Given the description of an element on the screen output the (x, y) to click on. 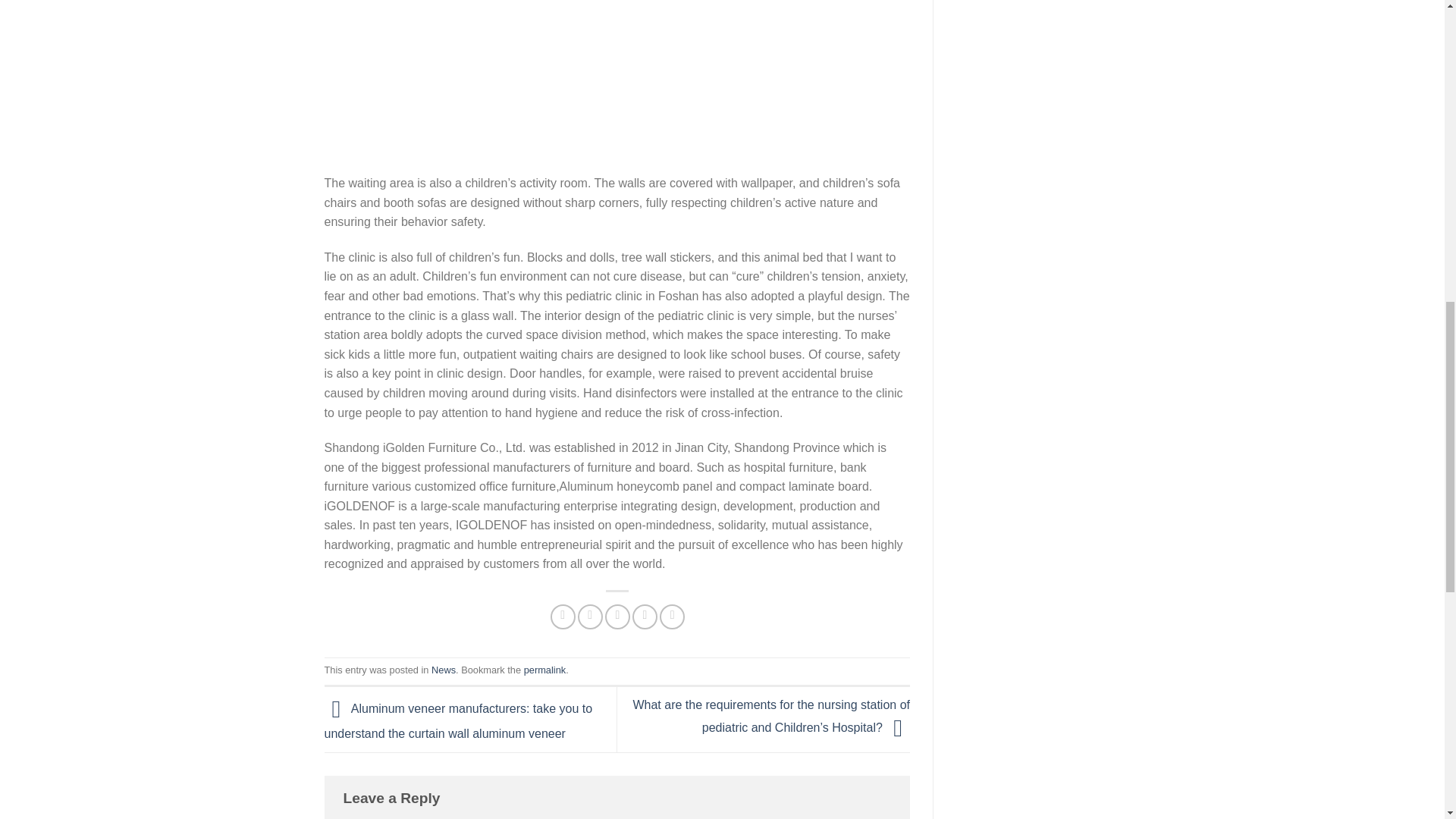
Email to a Friend (617, 616)
Share on Twitter (590, 616)
Pin on Pinterest (644, 616)
News (442, 669)
permalink (545, 669)
Share on LinkedIn (671, 616)
Share on Facebook (562, 616)
